Given the description of an element on the screen output the (x, y) to click on. 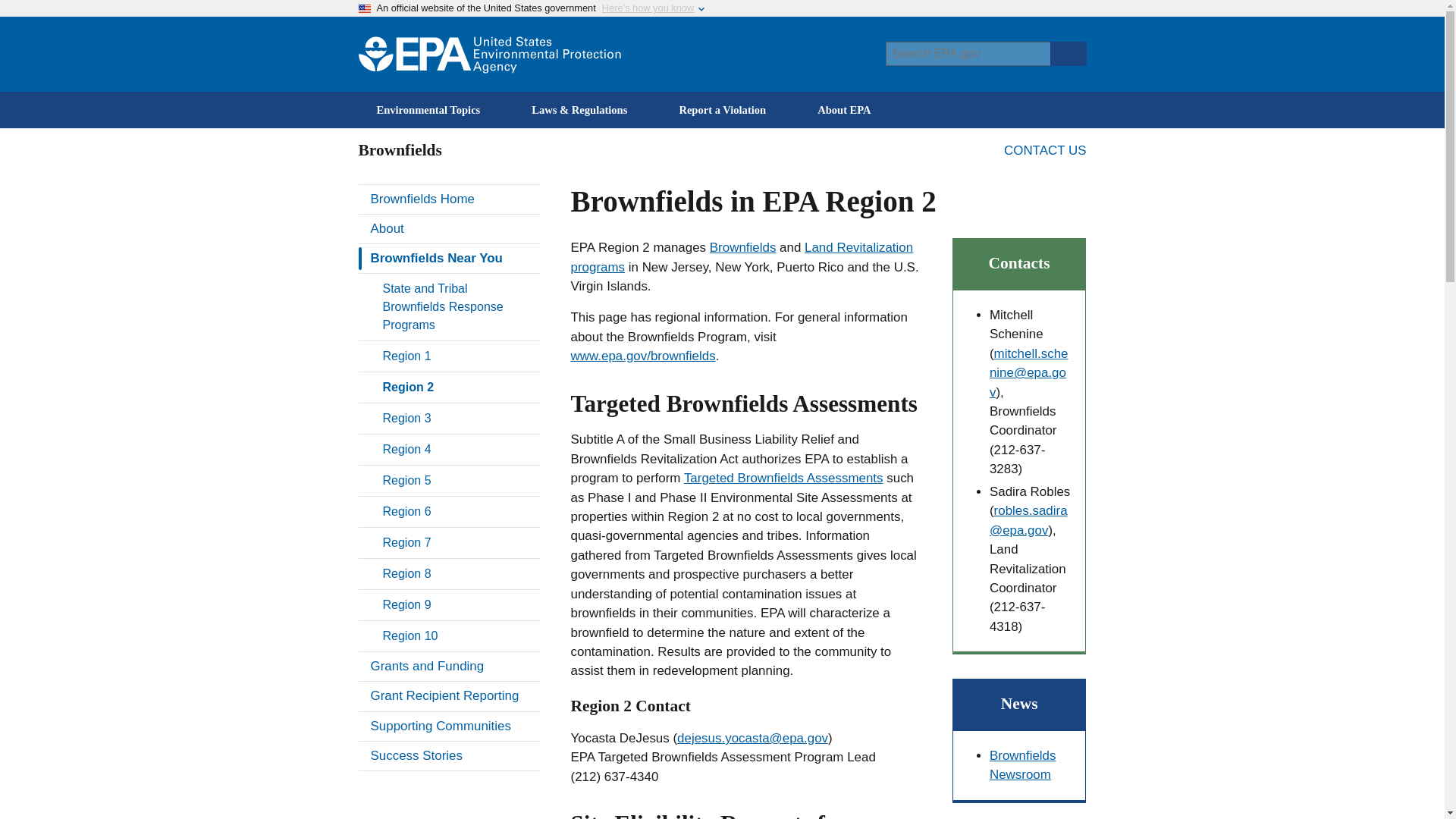
Brownfields (743, 247)
Skip to main content (721, 6)
CONTACT US (1045, 150)
Targeted Brownfields Assessments (783, 477)
Home (489, 53)
About EPA (851, 109)
Land Revitalization programs (741, 256)
Environmental Topics (435, 109)
Report a Violation (730, 109)
Brownfields home page (449, 199)
Brownfields Newsroom (1023, 765)
